Given the description of an element on the screen output the (x, y) to click on. 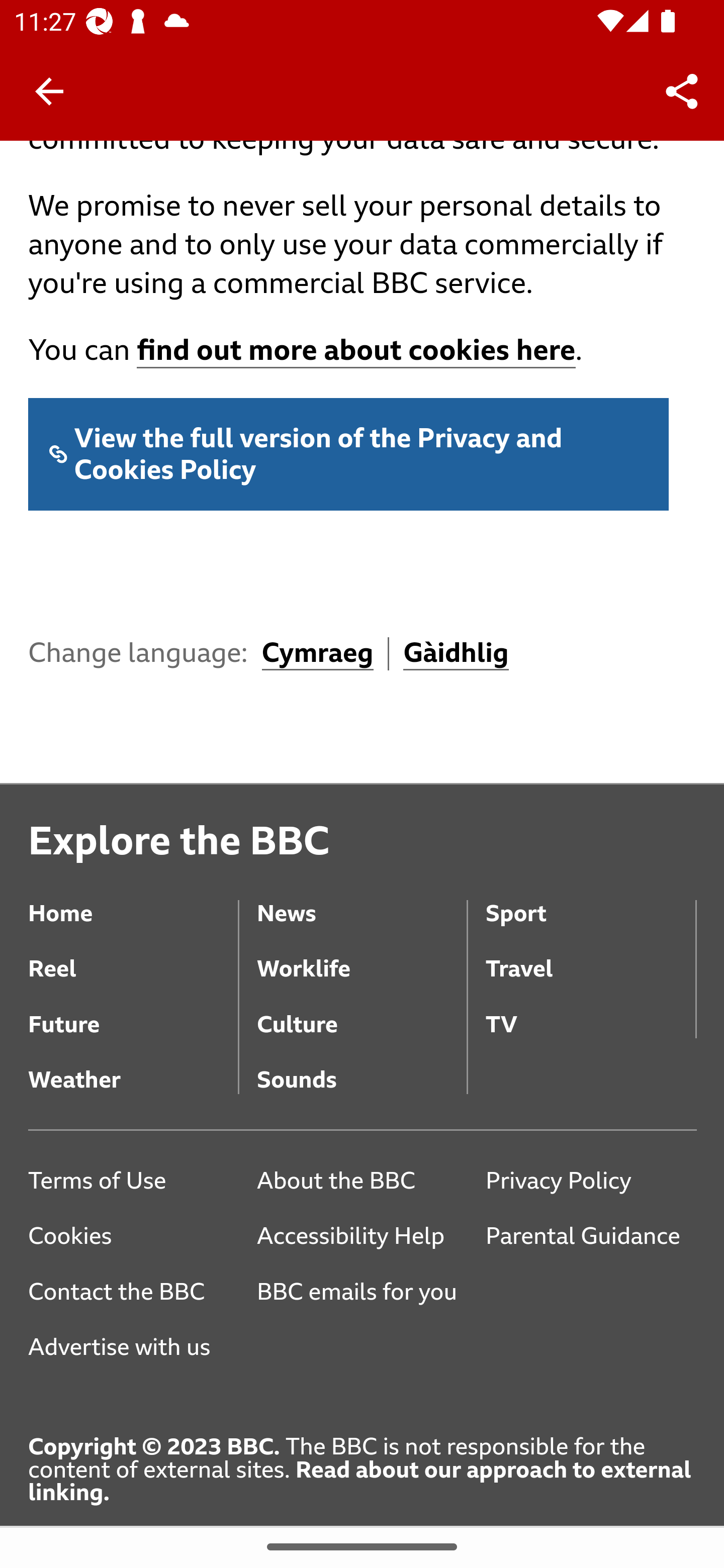
Back (49, 91)
Share (681, 90)
find out more about cookies here (356, 351)
Cymraeg (317, 654)
Gàidhlig (456, 654)
Home (133, 899)
News (361, 899)
Sport (590, 899)
Reel (133, 955)
Worklife (361, 955)
Travel (590, 955)
Future (133, 1010)
Culture (361, 1010)
TV (590, 1010)
Weather (133, 1067)
Sounds (361, 1067)
Terms of Use (133, 1181)
About the BBC (361, 1181)
Privacy Policy (590, 1181)
Cookies (133, 1236)
Accessibility Help (361, 1236)
Parental Guidance (590, 1236)
Contact the BBC (133, 1291)
BBC emails for you (362, 1291)
Advertise with us (133, 1347)
Read about our approach to external linking. (359, 1481)
